Given the description of an element on the screen output the (x, y) to click on. 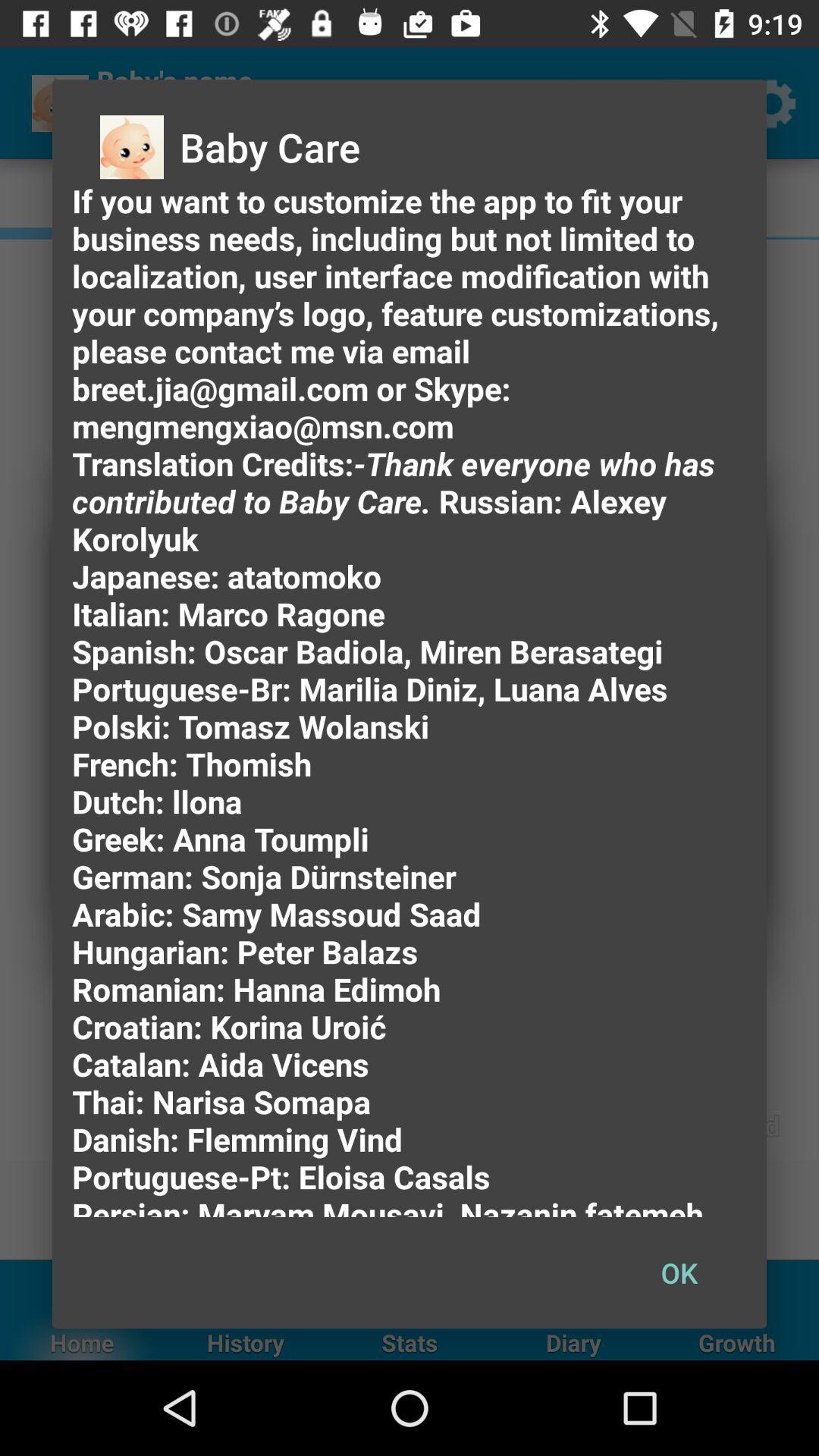
turn on the item below if you want item (678, 1272)
